Given the description of an element on the screen output the (x, y) to click on. 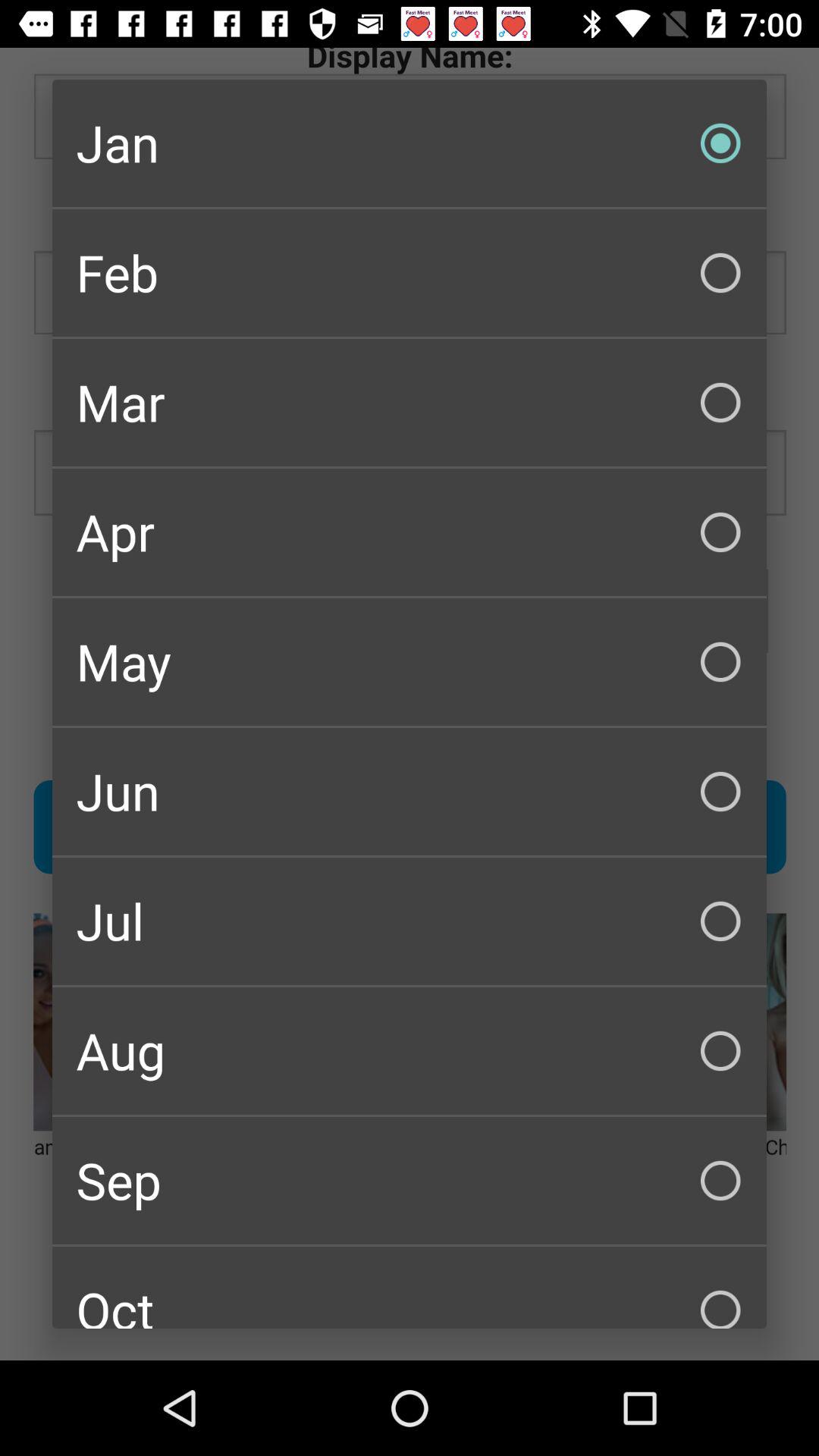
choose jun (409, 791)
